Given the description of an element on the screen output the (x, y) to click on. 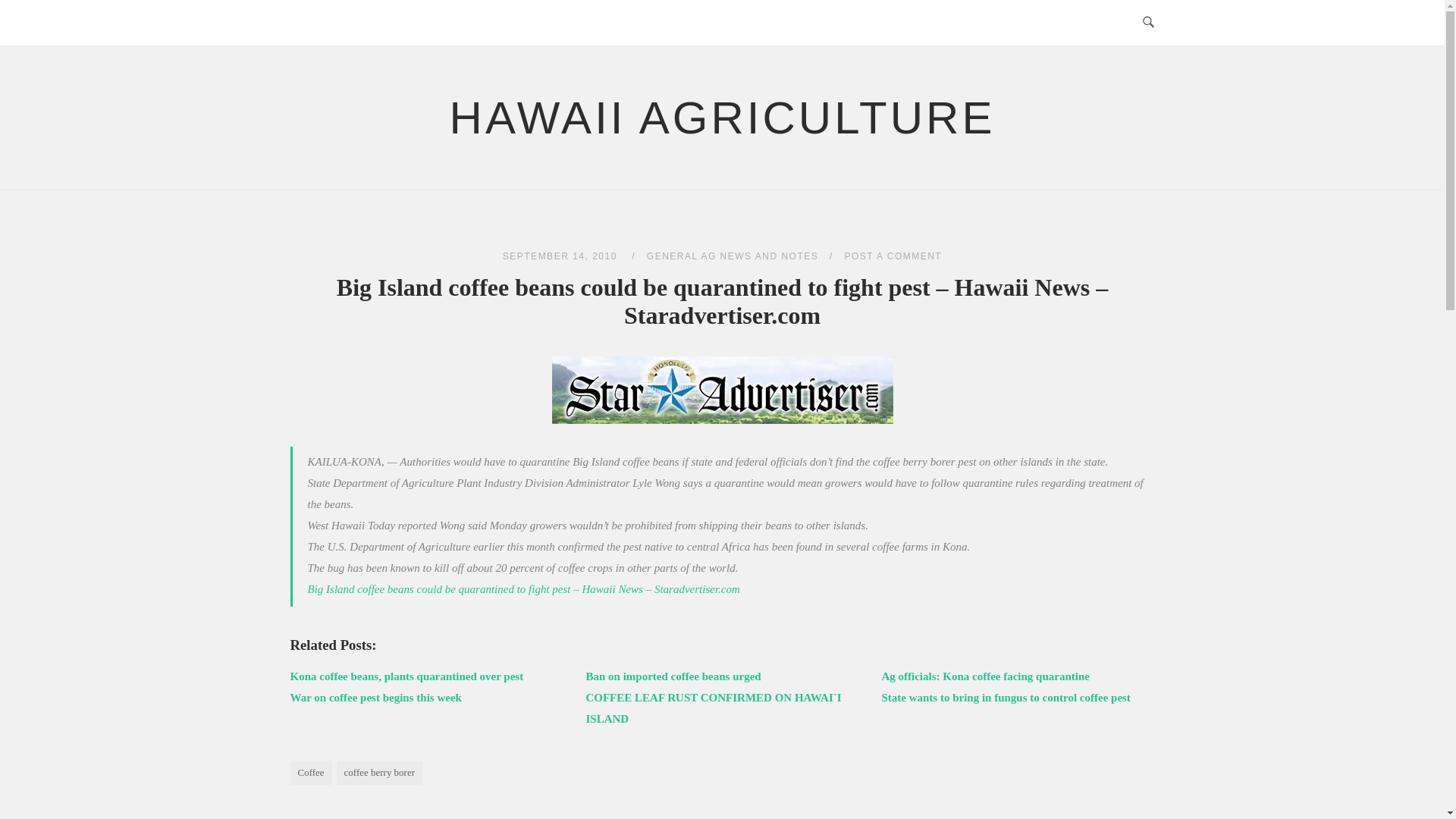
War on coffee pest begins this week (375, 697)
sa (722, 390)
War on coffee pest begins this week (375, 697)
GENERAL AG NEWS AND NOTES (732, 255)
coffee berry borer (379, 772)
State wants to bring in fungus to control coffee pest (1004, 697)
Ban on imported coffee beans urged (672, 676)
Kona coffee beans, plants quarantined over pest (405, 676)
State wants to bring in fungus to control coffee pest (1004, 697)
Ag officials: Kona coffee facing quarantine (984, 676)
